Given the description of an element on the screen output the (x, y) to click on. 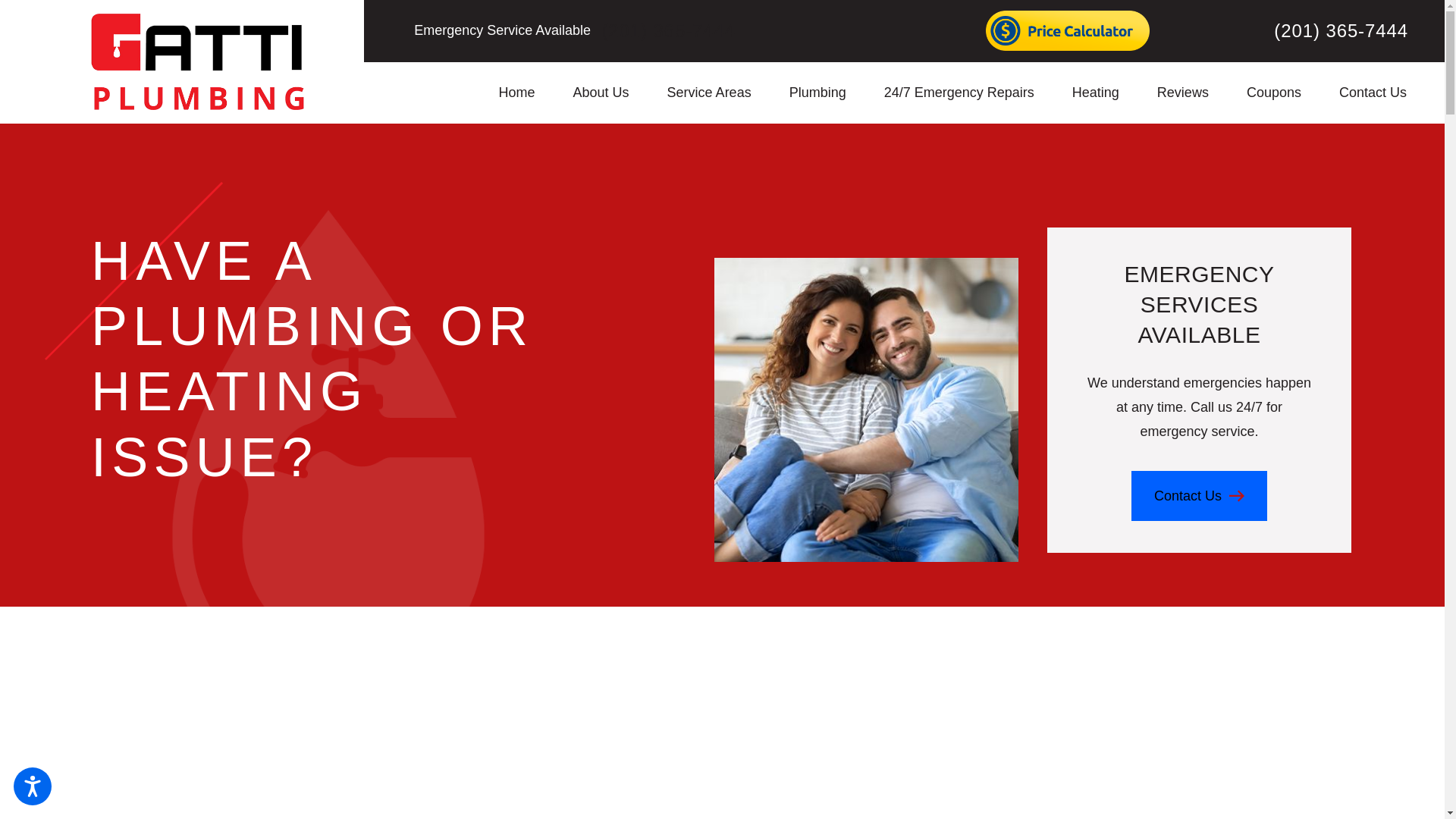
Gatti Plumbing, Heating and Drain Cleaning (197, 61)
Service Whale Price Calculator (1067, 30)
Service Areas (708, 93)
Open the accessibility options menu (31, 786)
Plumbing (817, 93)
About Us (600, 93)
Home (526, 93)
